Given the description of an element on the screen output the (x, y) to click on. 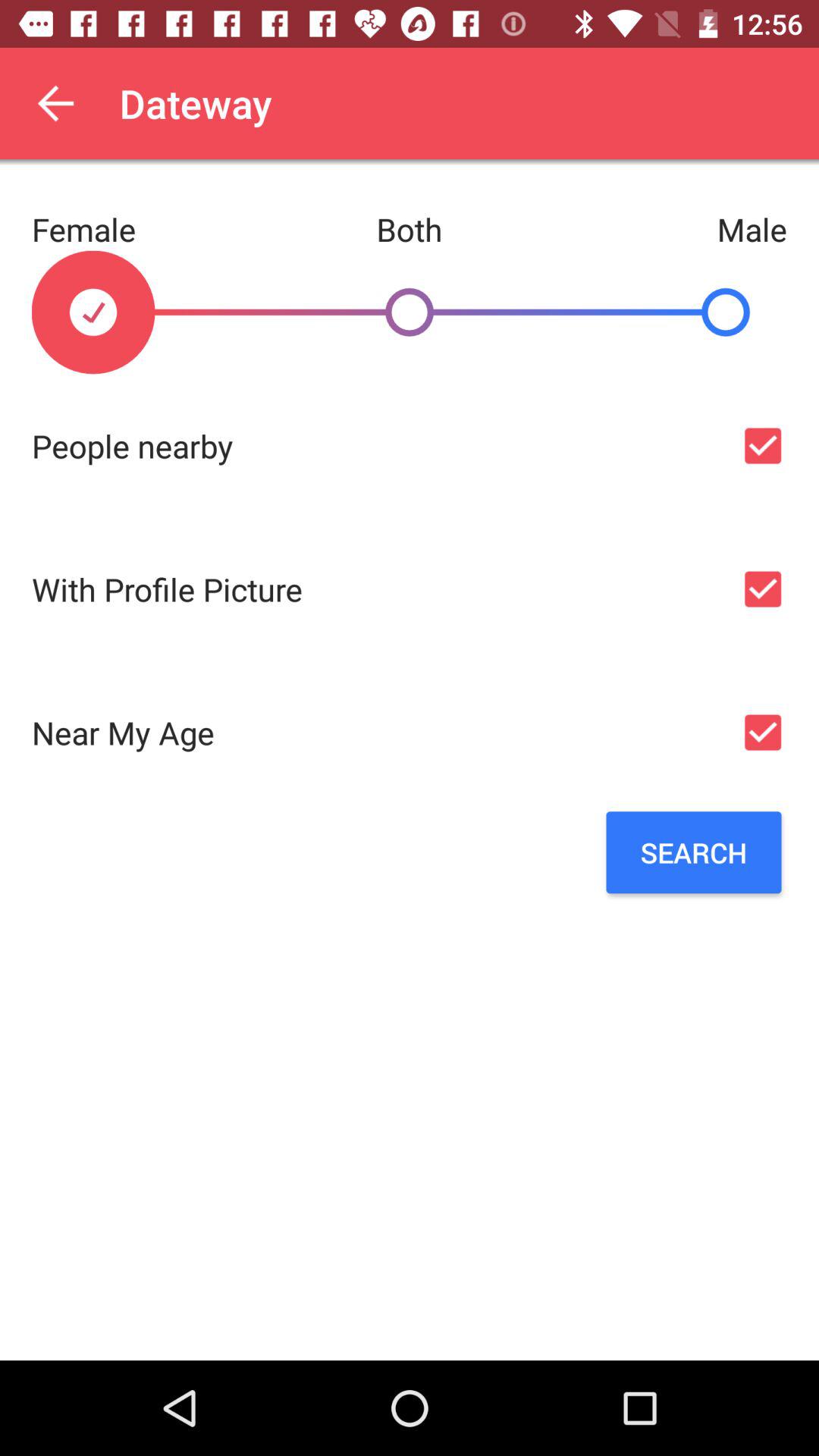
press the search (693, 852)
